Given the description of an element on the screen output the (x, y) to click on. 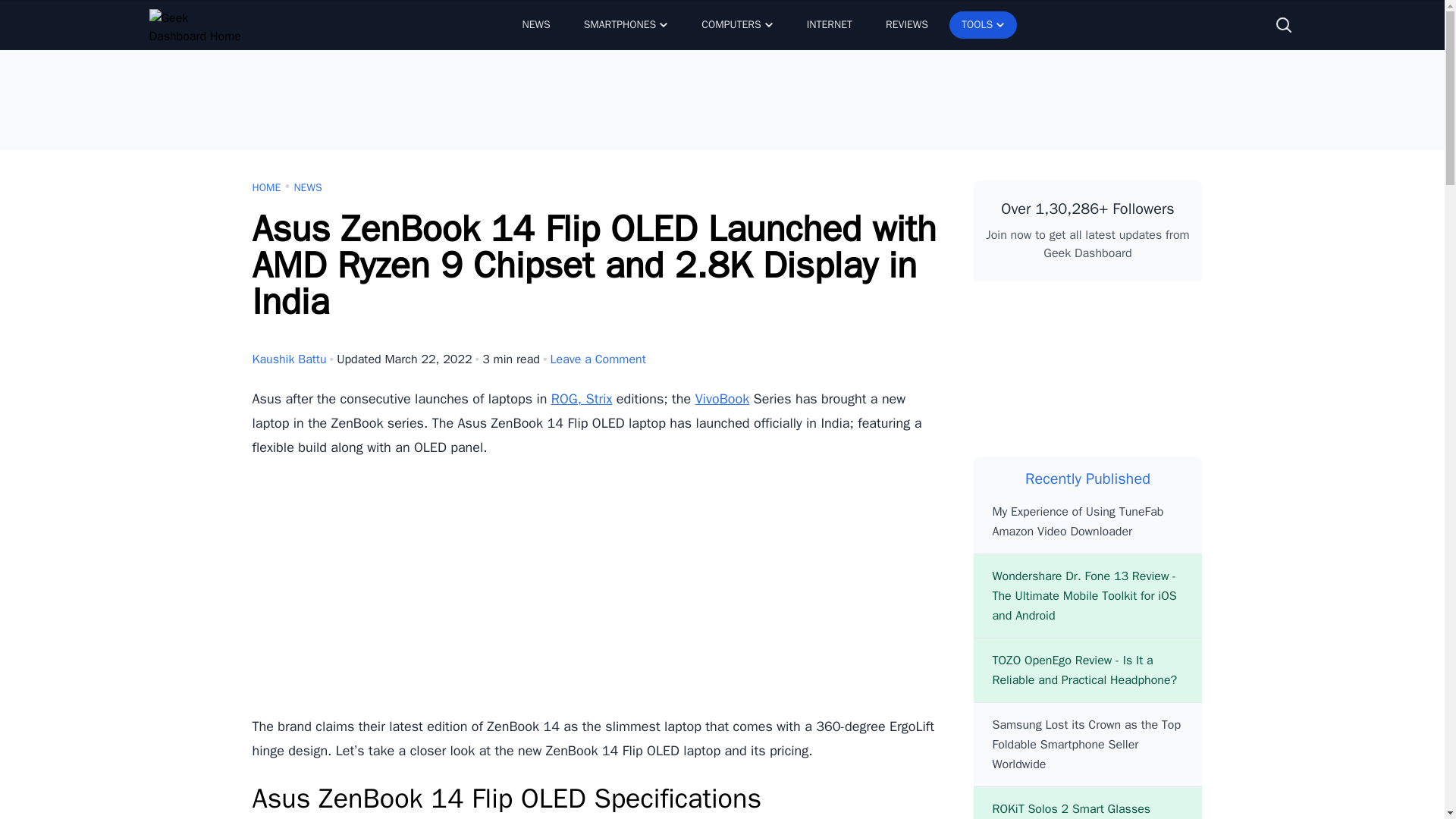
HOME (266, 187)
INTERNET (829, 24)
Follow Geek Dashboard on Pinterest (1011, 375)
VivoBook (722, 398)
NEWS (307, 187)
REVIEWS (906, 24)
TOOLS (982, 24)
Kaushik Battu (288, 359)
SMARTPHONES (626, 24)
Subscribe to Geek Dashboard on YouTube (1087, 375)
Join Geek Dashboard Telegram Channel (1163, 311)
ROG, Strix (581, 398)
COMPUTERS (736, 24)
NEWS (535, 24)
Like Geek Dashboard Page on Facebook (1011, 311)
